Given the description of an element on the screen output the (x, y) to click on. 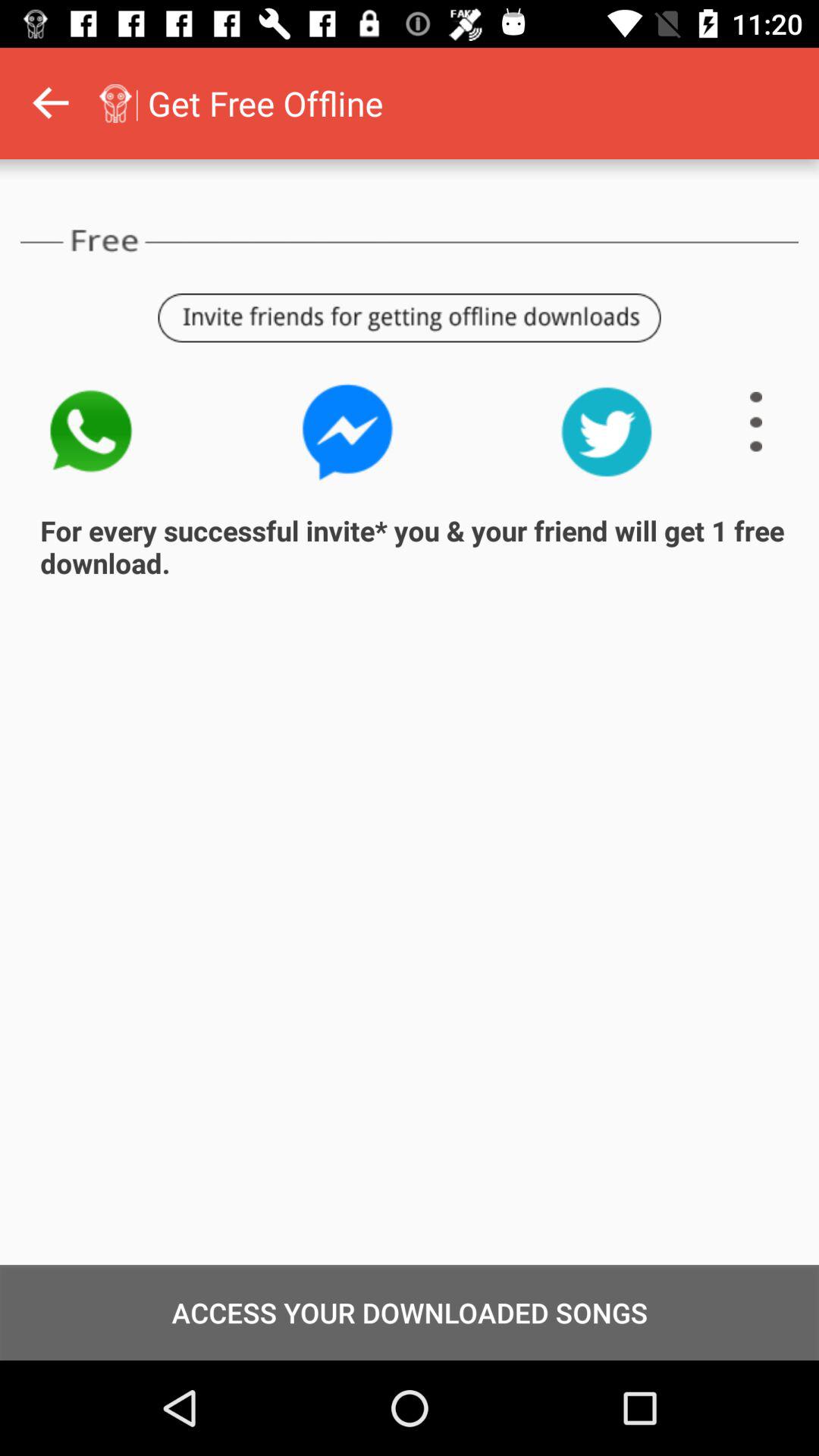
press icon above for every successful (348, 431)
